Given the description of an element on the screen output the (x, y) to click on. 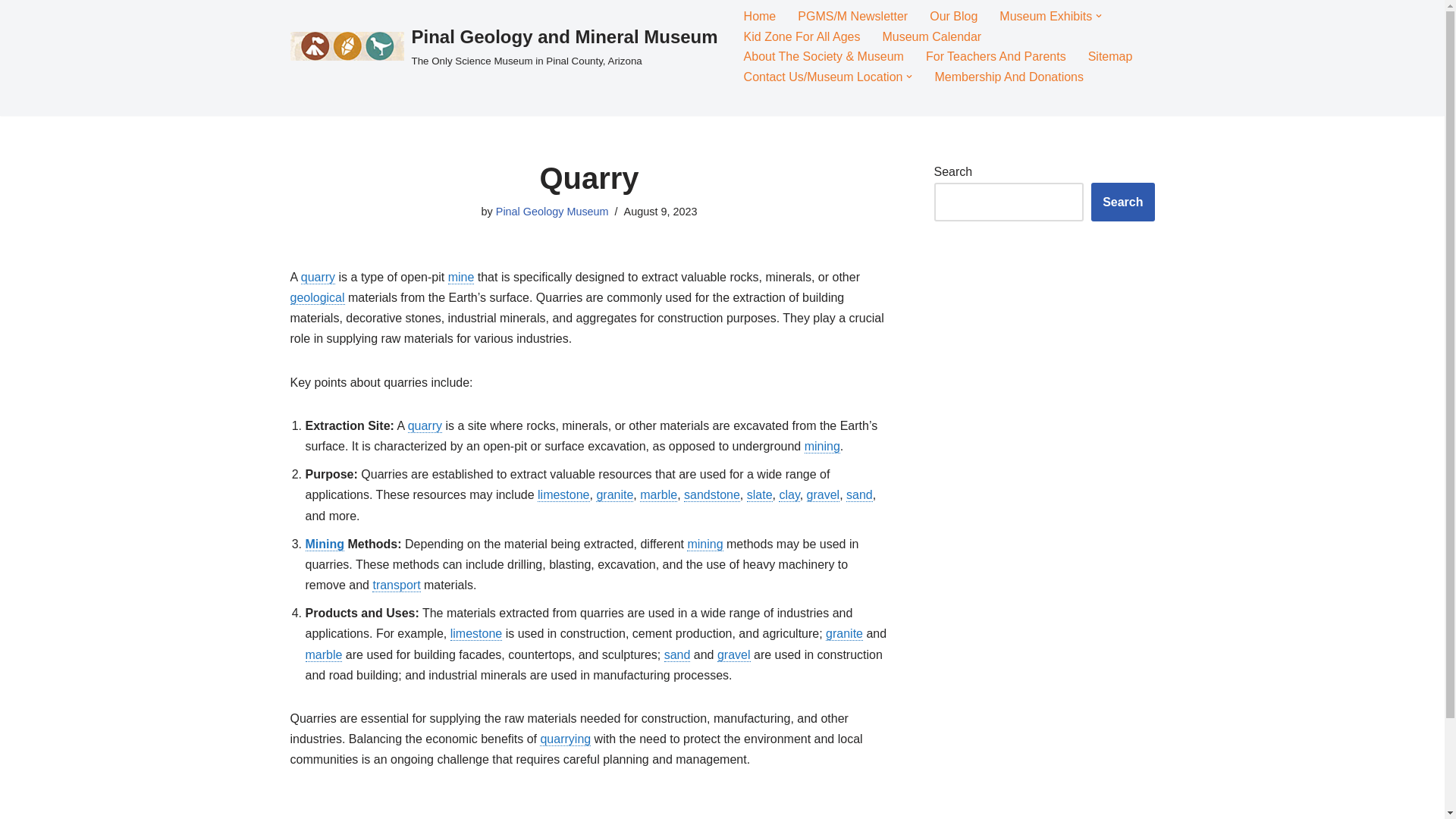
For Teachers And Parents (995, 55)
Home (760, 15)
Membership And Donations (1008, 76)
Our Blog (953, 15)
Posts by Pinal Geology Museum (552, 211)
Museum Calendar (931, 36)
Skip to content (11, 31)
Kid Zone For All Ages (802, 36)
Pinal Geology Museum (552, 211)
